Given the description of an element on the screen output the (x, y) to click on. 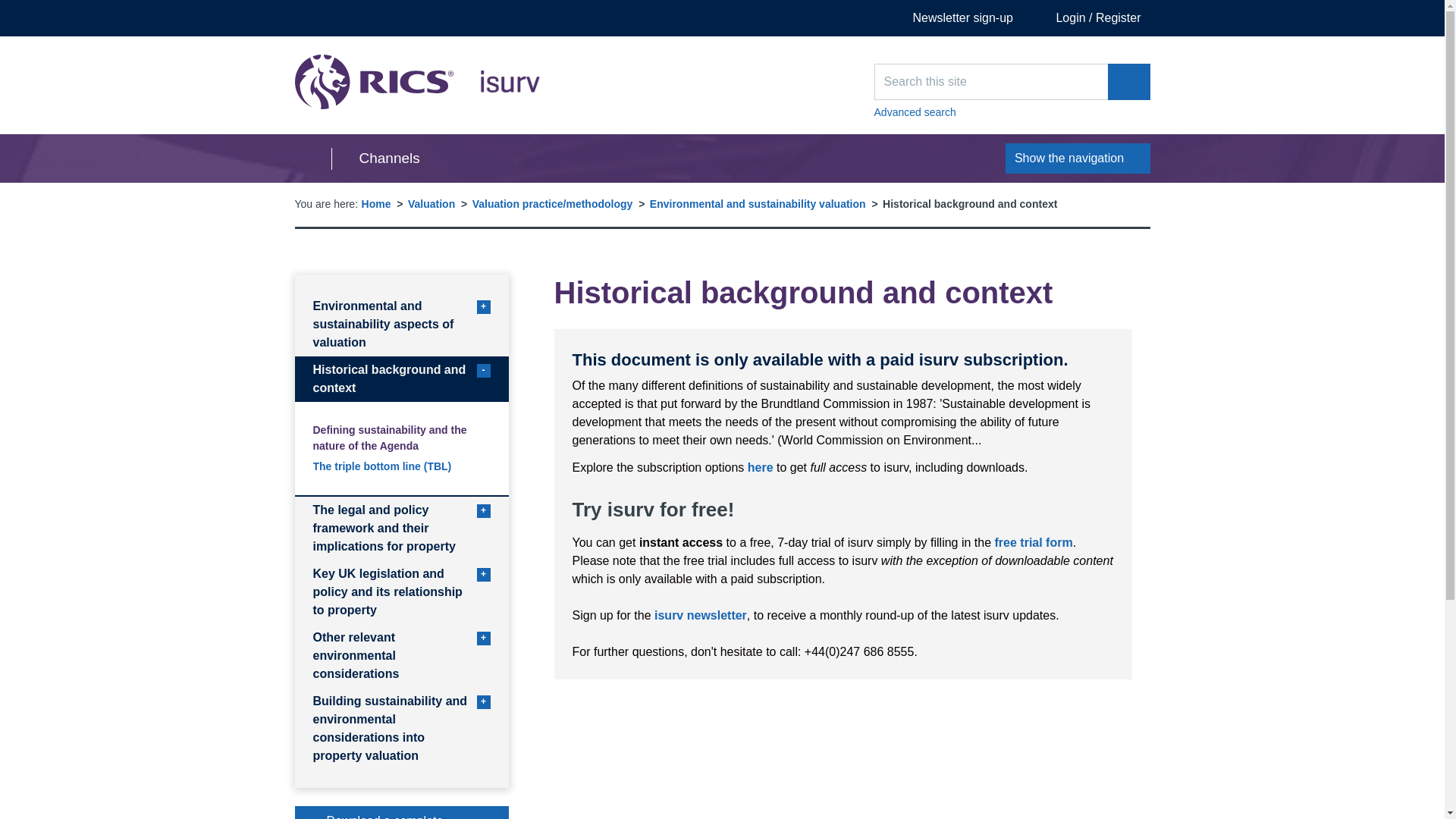
Advanced search (1012, 112)
Channels (374, 158)
free trial form (417, 81)
Newsletter sign-up (1033, 542)
Home (952, 18)
Valuation (376, 203)
Search (430, 203)
Show the navigation (1128, 81)
here (1078, 158)
isurv newsletter (760, 467)
Environmental and sustainability valuation (699, 615)
